Given the description of an element on the screen output the (x, y) to click on. 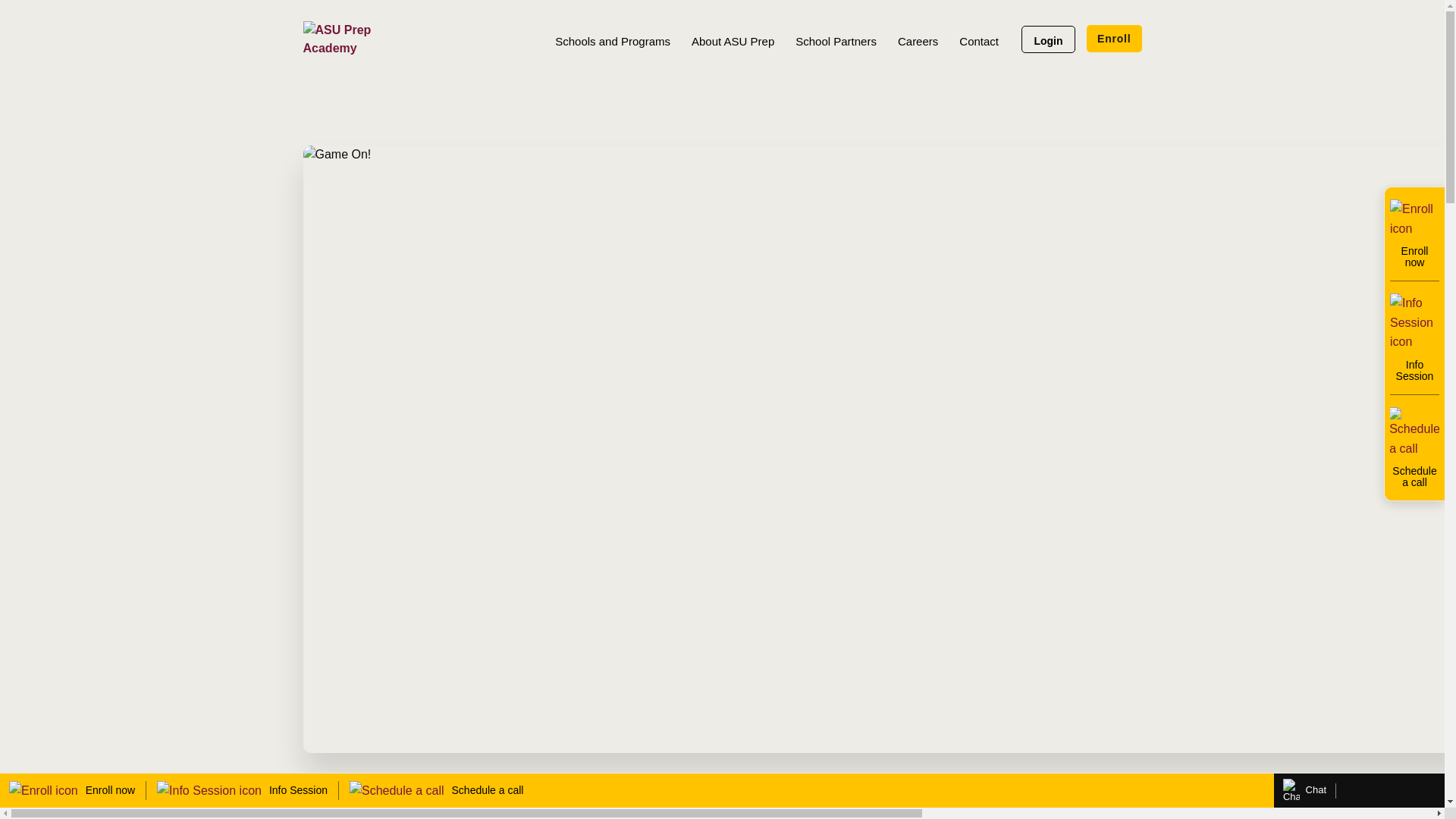
Info Session (242, 790)
Schedule a call (435, 790)
Enroll now (71, 790)
